Given the description of an element on the screen output the (x, y) to click on. 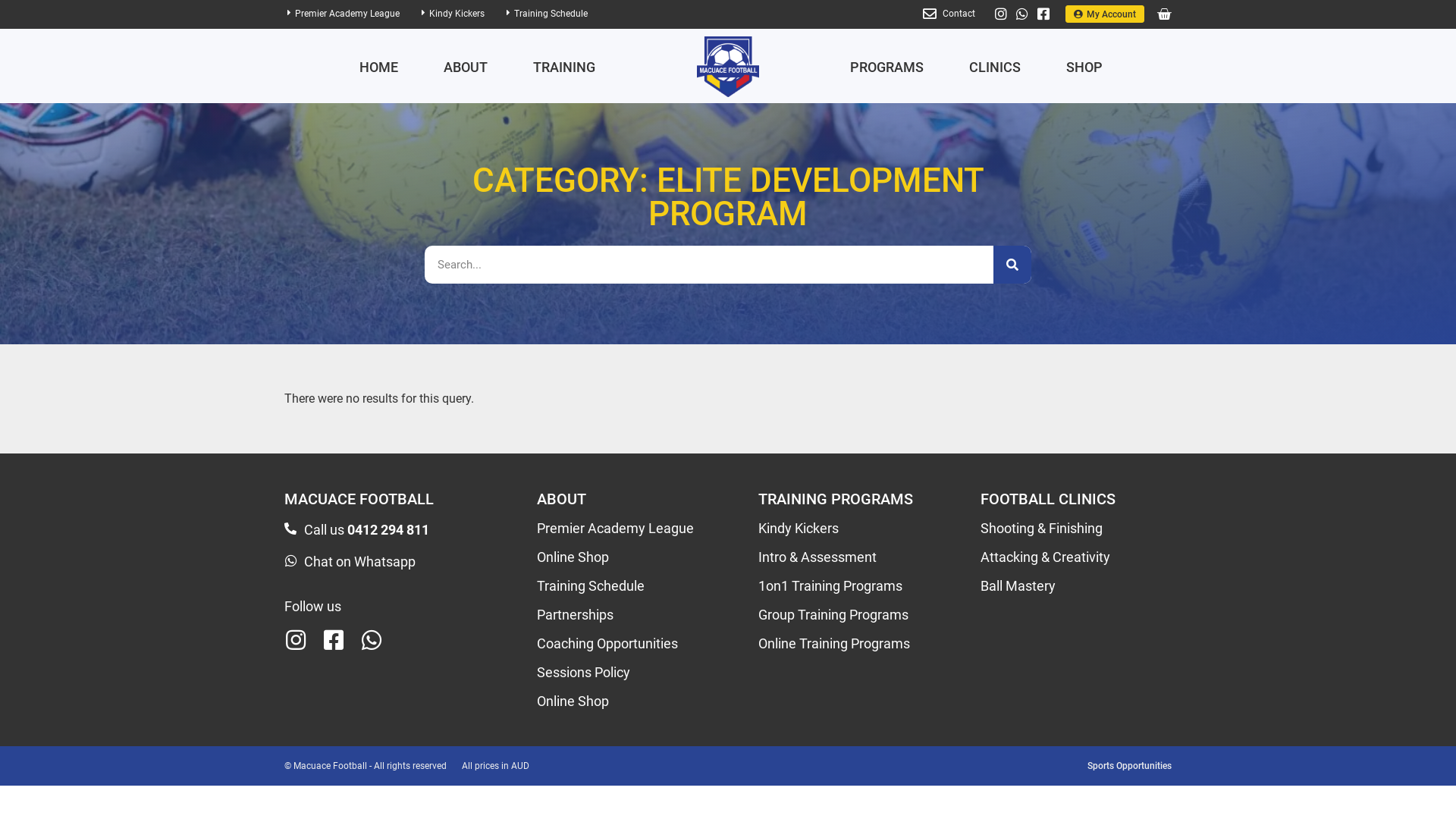
Online Shop Element type: text (572, 556)
ABOUT Element type: text (464, 66)
ABOUT Element type: text (540, 14)
Kindy Kickers Element type: text (798, 528)
Chat on Whatsapp Element type: text (359, 561)
PROGRAMS Element type: text (886, 66)
Coaching Opportunities Element type: text (606, 643)
Ball Mastery Element type: text (1016, 585)
TRAINING Element type: text (622, 14)
FOOTBALL CLINICS Element type: text (1046, 498)
Contact Element type: text (958, 13)
Attacking & Creativity Element type: text (1044, 556)
SHOP Element type: text (1084, 66)
HOME Element type: text (378, 66)
Training Schedule Element type: text (590, 585)
Online Shop Element type: text (572, 701)
Group Training Programs Element type: text (833, 614)
HOME Element type: text (468, 14)
My Account Element type: text (1104, 13)
TRAINING PROGRAMS Element type: text (835, 498)
TRAINING Element type: text (563, 66)
Call us 0412 294 811 Element type: text (366, 529)
Kindy Kickers Element type: text (456, 13)
Sports Opportunities Element type: text (1129, 765)
1on1 Training Programs Element type: text (830, 585)
CLINICS Element type: text (920, 14)
Shooting & Finishing Element type: text (1040, 528)
CLINICS Element type: text (994, 66)
Partnerships Element type: text (574, 614)
Online Training Programs Element type: text (834, 643)
ABOUT Element type: text (561, 498)
SHOP Element type: text (1002, 14)
Training Schedule Element type: text (550, 13)
Premier Academy League Element type: text (614, 528)
Premier Academy League Element type: text (346, 13)
Intro & Assessment Element type: text (817, 556)
PROGRAMS Element type: text (823, 14)
Sessions Policy Element type: text (583, 672)
